Given the description of an element on the screen output the (x, y) to click on. 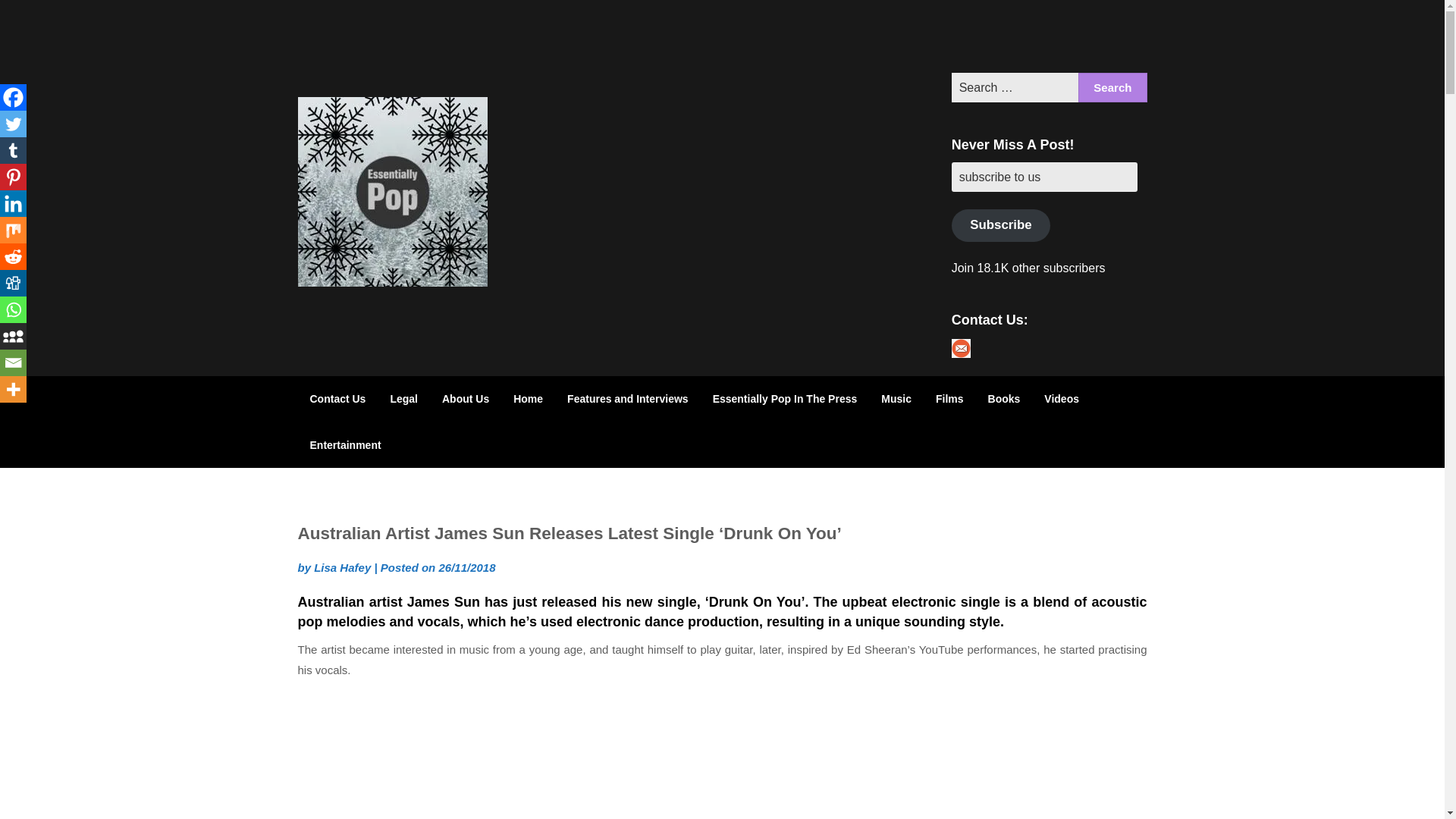
Instagram (1048, 36)
Whatsapp (13, 309)
More (13, 388)
Legal (403, 398)
Lisa Hafey (342, 567)
MySpace (13, 335)
Features and Interviews (627, 398)
Tumblr (1128, 36)
Reddit (13, 256)
Home (527, 398)
